Given the description of an element on the screen output the (x, y) to click on. 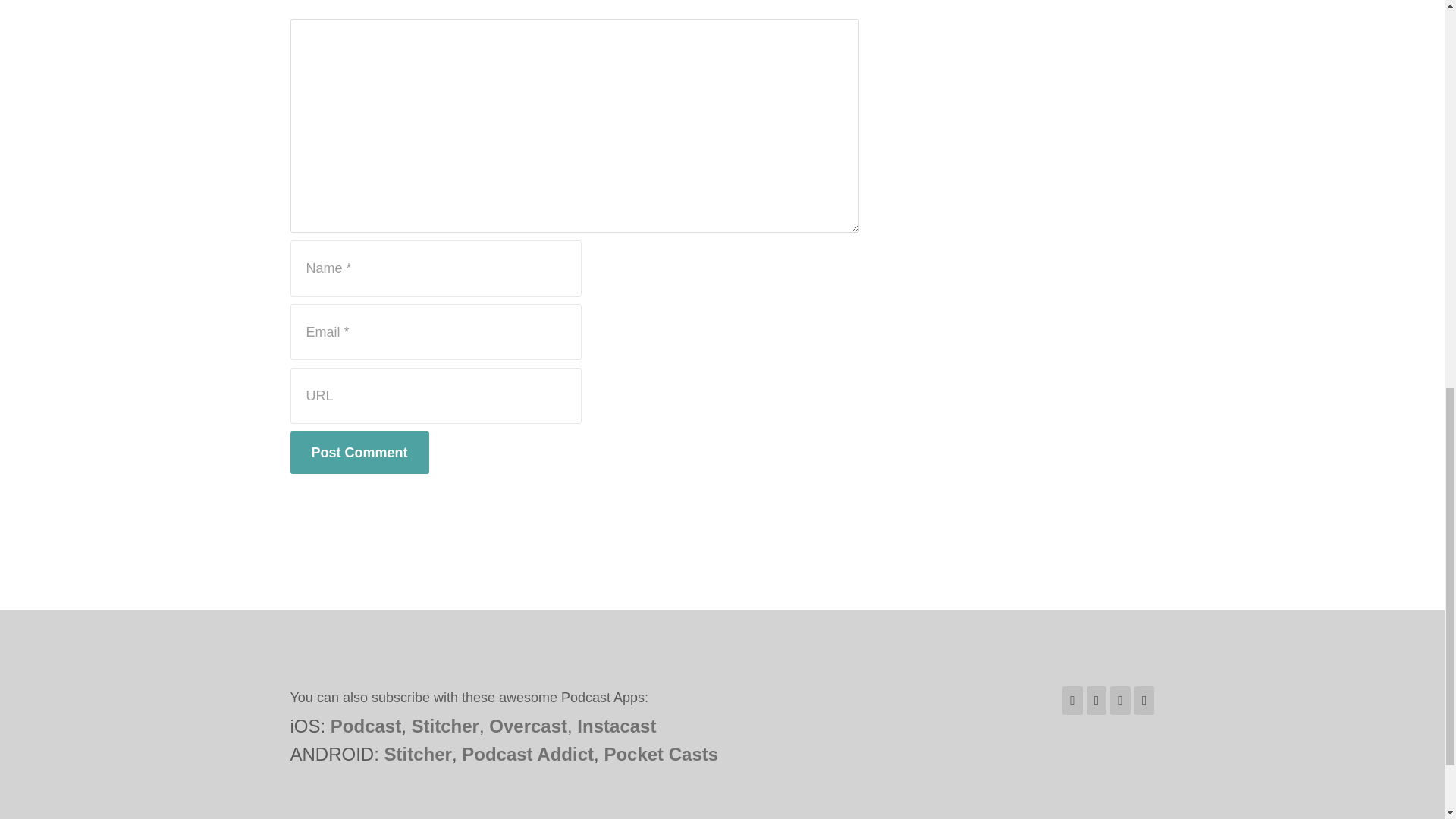
Post Comment (358, 452)
Stitcher (417, 753)
Podcast (365, 725)
Overcast (528, 725)
Podcast Addict (527, 753)
Pocket Casts (660, 753)
Stitcher (445, 725)
Post Comment (358, 452)
Instacast (616, 725)
